Given the description of an element on the screen output the (x, y) to click on. 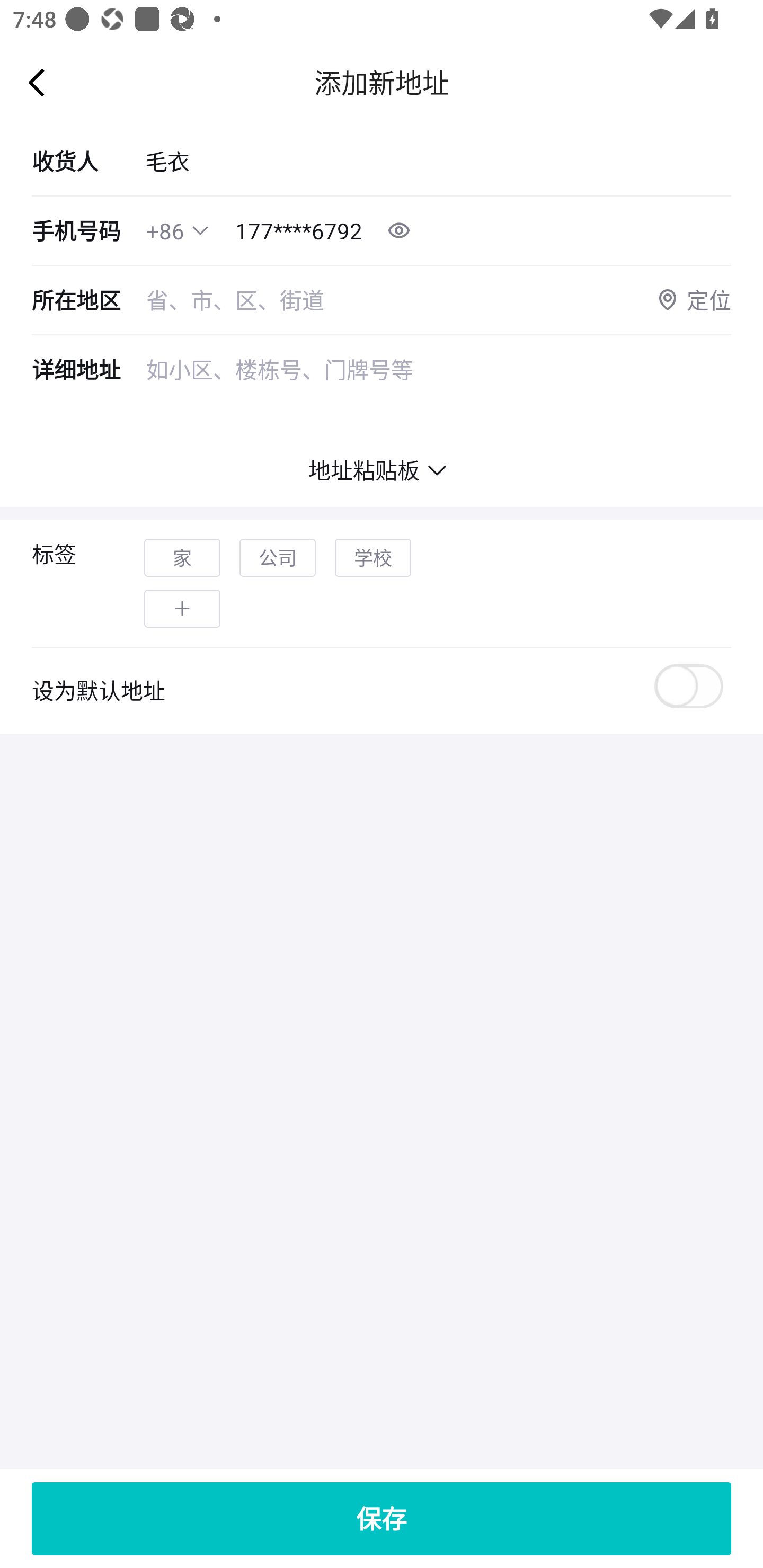
Navigate up (36, 82)
毛衣 (437, 160)
+86 (165, 231)
177****6792 (298, 231)
 (199, 230)
所在地区 省、市、区、街道 定位 (381, 299)
定位 (692, 300)
如小区、楼栋号、门牌号等 (438, 395)
地址粘贴板 (381, 470)
家 (182, 558)
公司 (277, 558)
学校 (372, 558)
 (182, 608)
保存 (381, 1518)
